Given the description of an element on the screen output the (x, y) to click on. 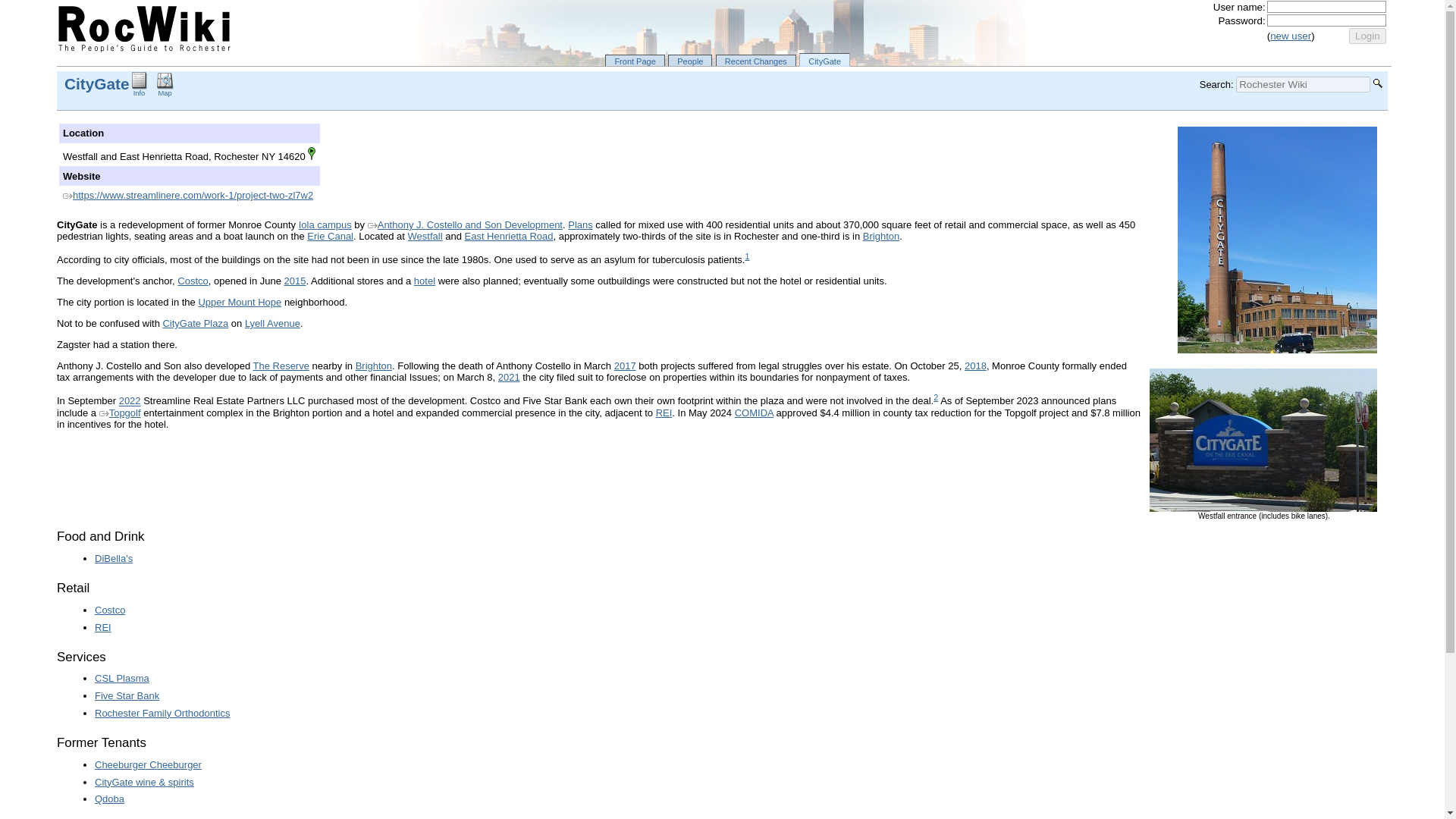
new user (1290, 35)
Topgolf (120, 412)
Erie Canal (330, 235)
Development Projects (579, 224)
Iola Campus (325, 224)
Upper Mount Hope (239, 301)
Brighton (881, 235)
2021 (508, 377)
Places To Stay (424, 280)
2018 (975, 365)
